Given the description of an element on the screen output the (x, y) to click on. 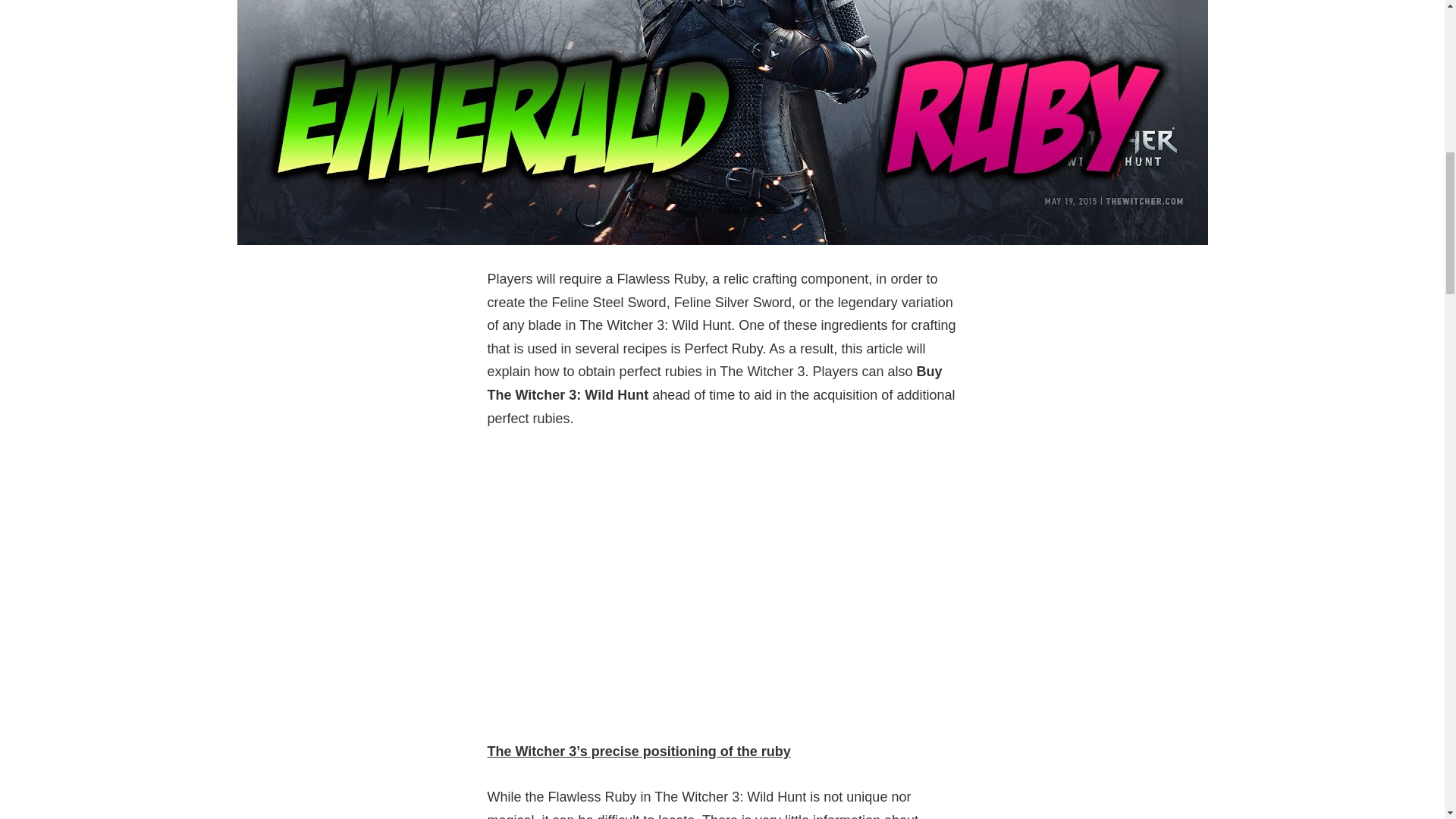
The Witcher 3 finding 3 flawless Ruby's. (721, 584)
